Given the description of an element on the screen output the (x, y) to click on. 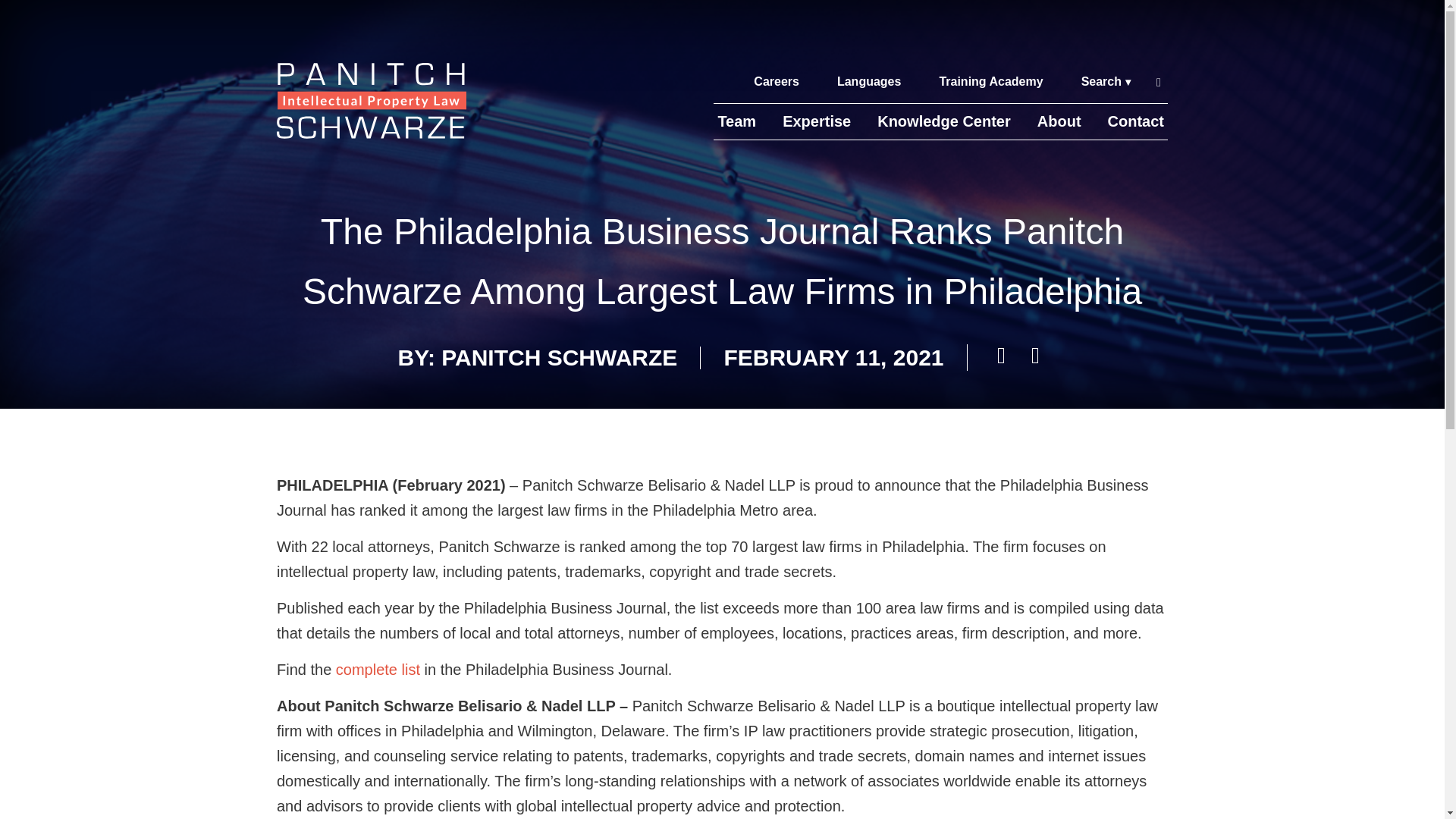
About (1058, 121)
Search (1105, 81)
Expertise (816, 121)
Team (736, 121)
Languages (868, 81)
Knowledge Center (943, 121)
Careers (776, 81)
Training Academy (990, 81)
SHARE (1035, 354)
